Given the description of an element on the screen output the (x, y) to click on. 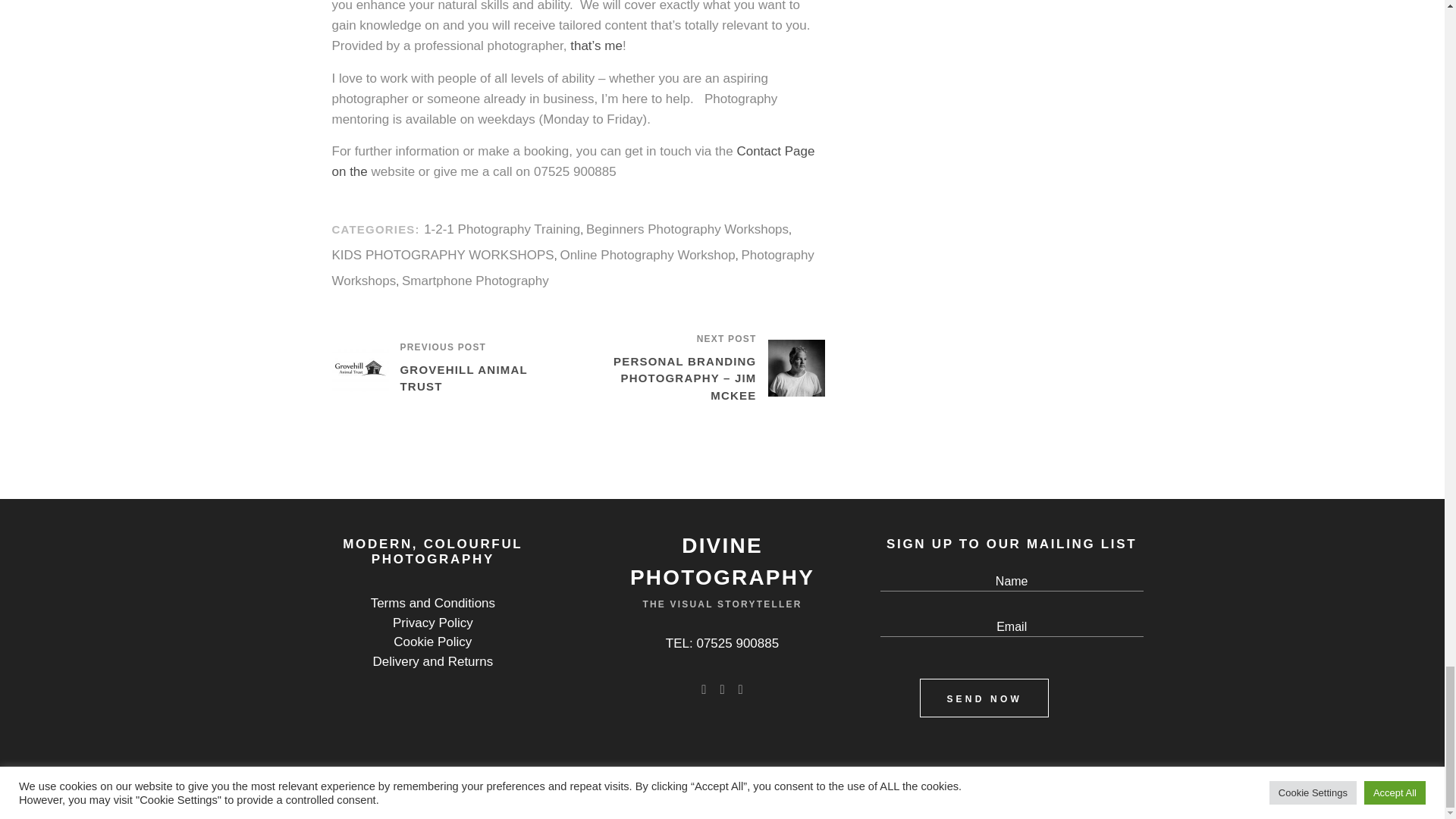
Photography Workshops (572, 268)
KIDS PHOTOGRAPHY WORKSHOPS (442, 255)
Beginners Photography Workshops (687, 228)
Smartphone Photography (474, 280)
1-2-1 Photography Training (501, 228)
SEND NOW (984, 697)
GROVEHILL ANIMAL TRUST (478, 378)
Contact Page on the (573, 161)
Online Photography Workshop (647, 255)
